Given the description of an element on the screen output the (x, y) to click on. 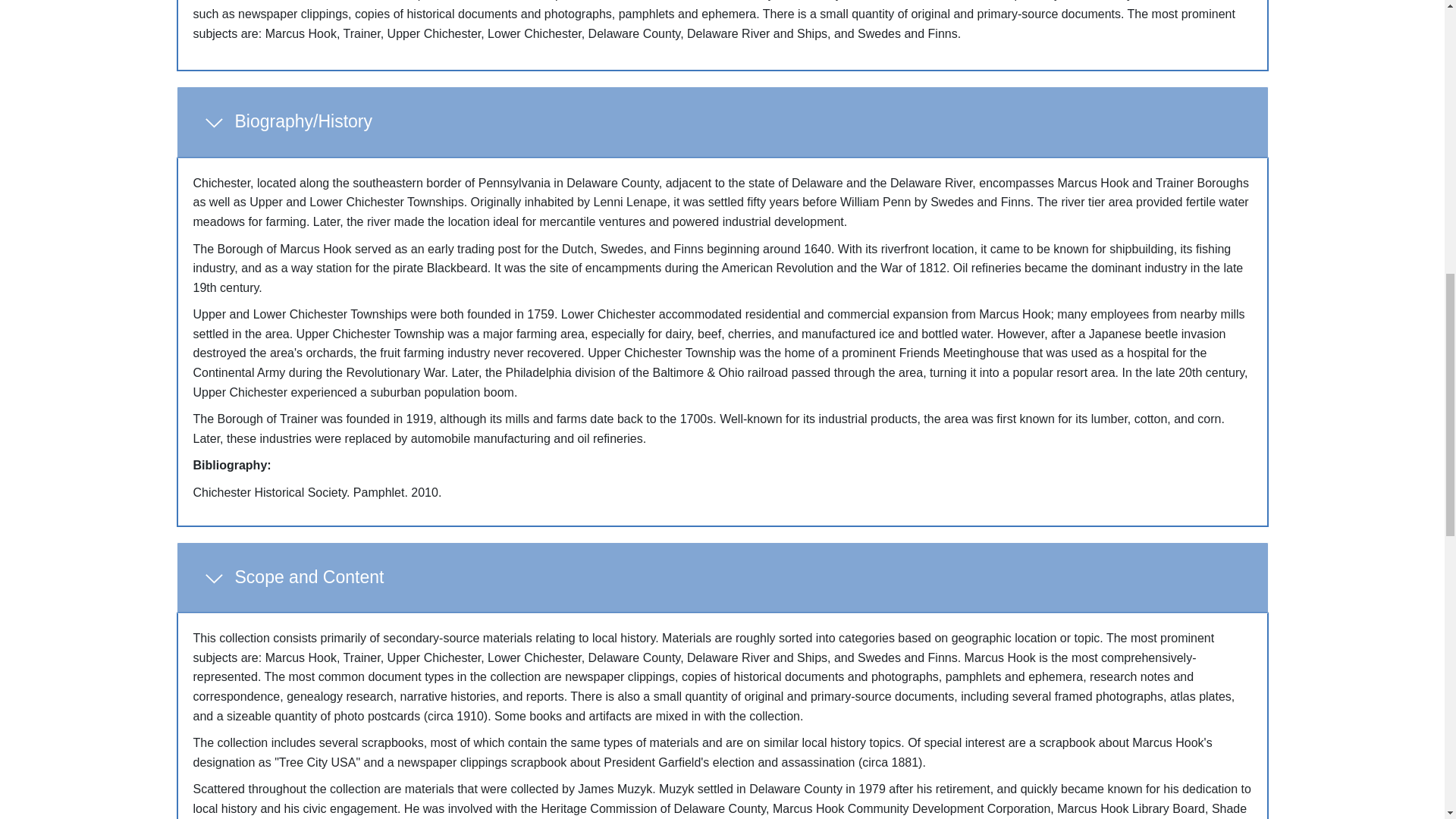
Scope and Content (722, 578)
